Given the description of an element on the screen output the (x, y) to click on. 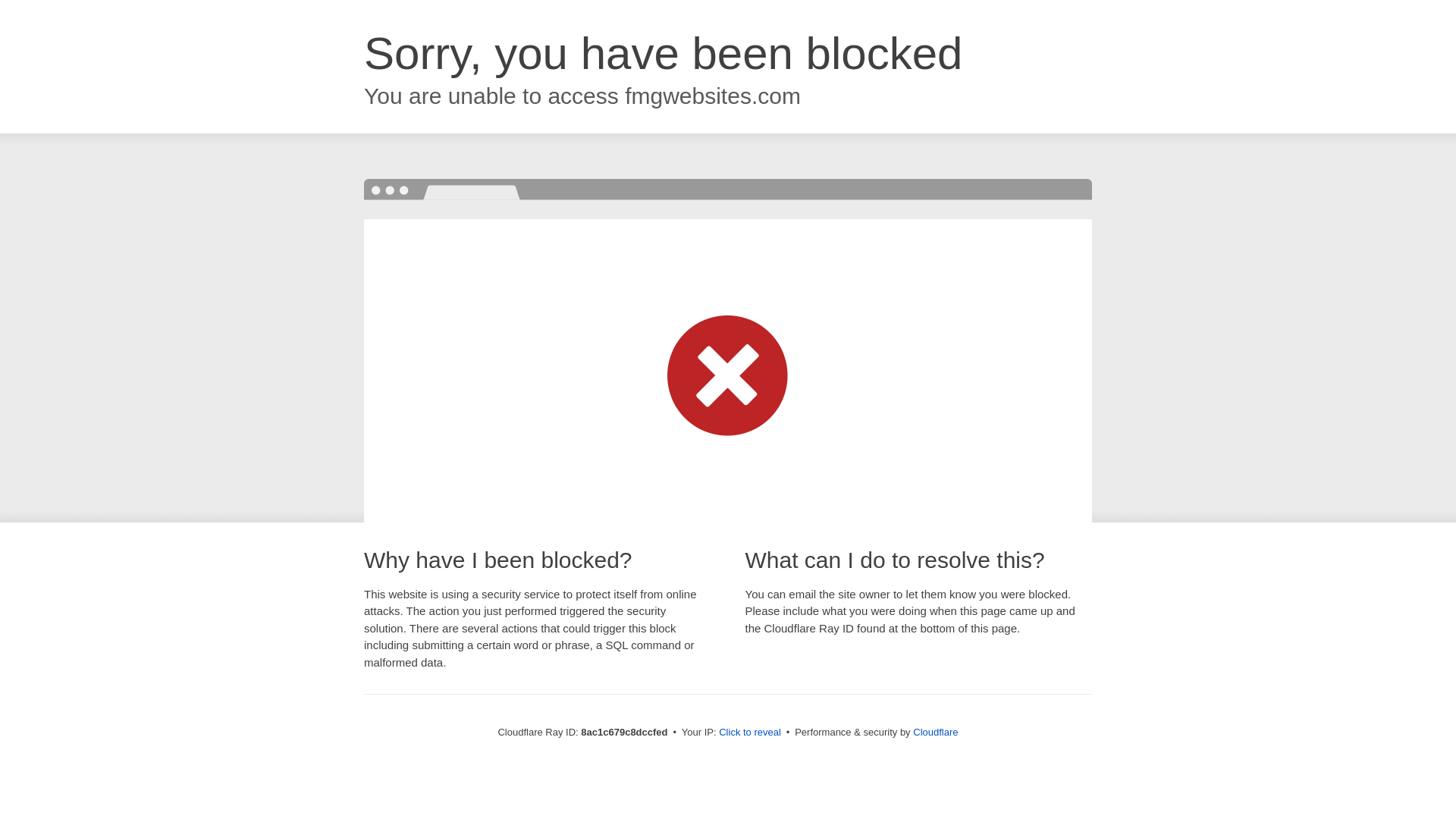
Click to reveal (749, 732)
Cloudflare (935, 731)
